Given the description of an element on the screen output the (x, y) to click on. 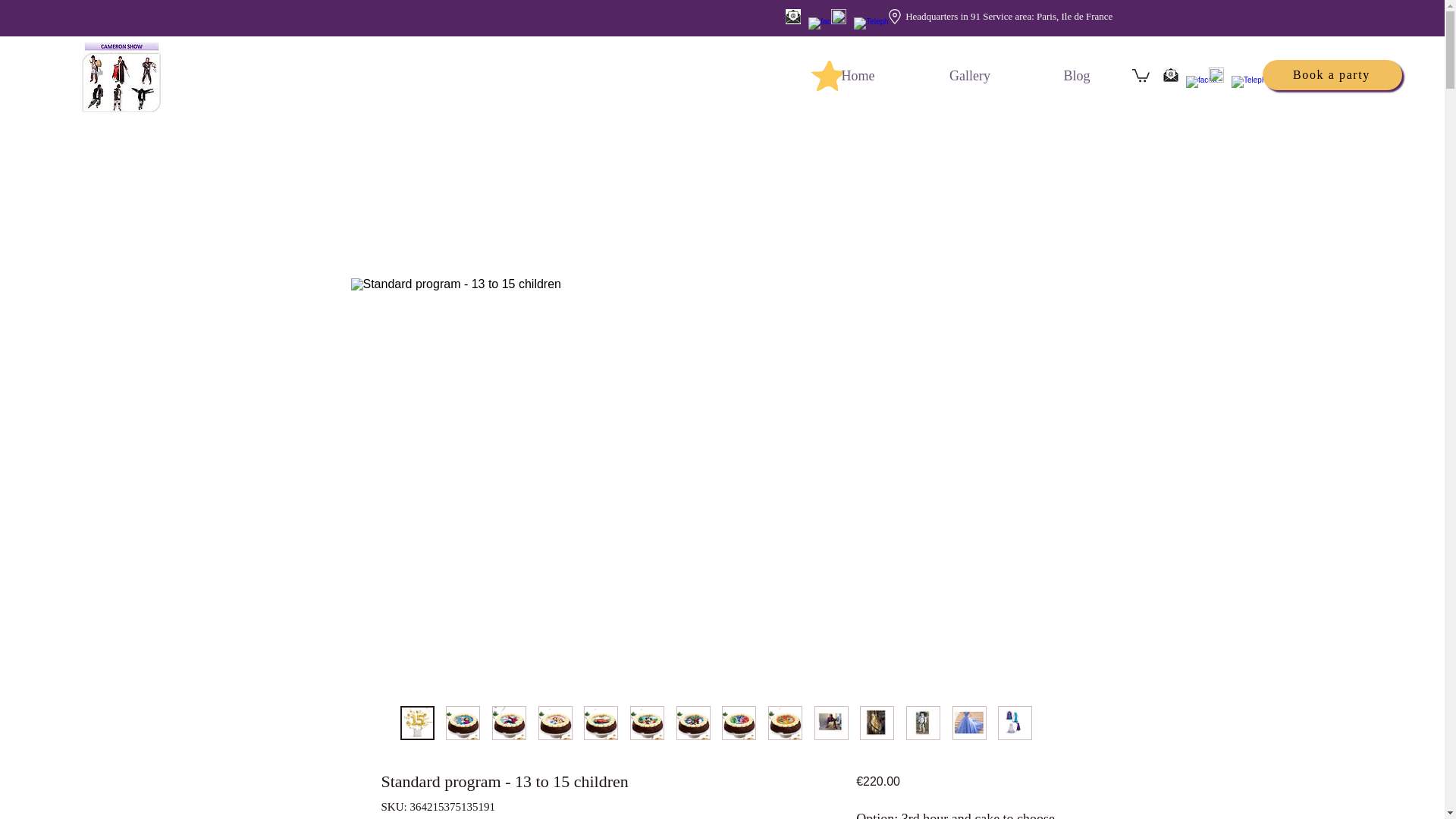
Home (857, 75)
Gallery (969, 75)
Book a party (1332, 74)
Blog (1076, 75)
